Given the description of an element on the screen output the (x, y) to click on. 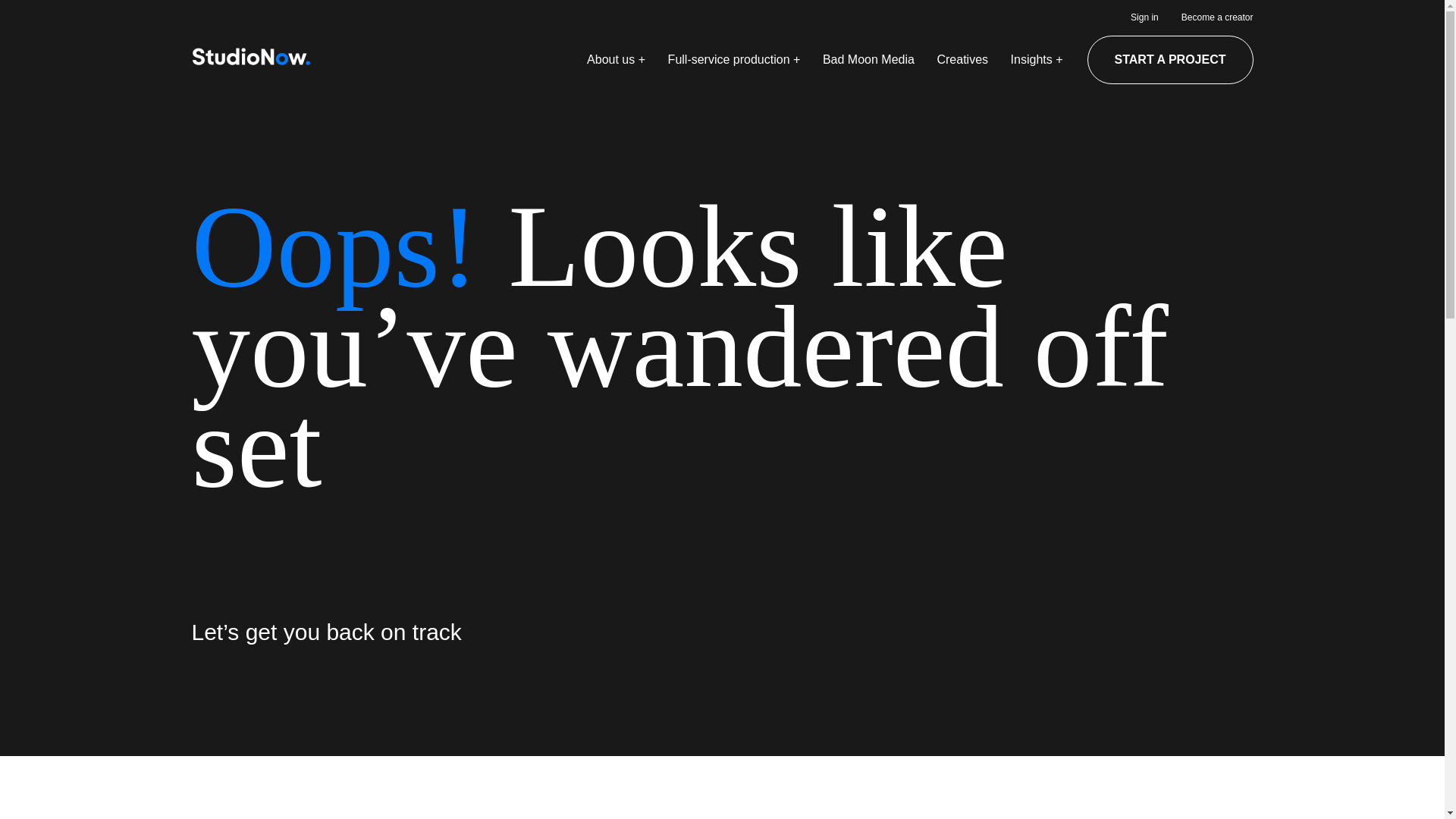
Creatives (962, 60)
Sign in (1144, 17)
Bad Moon Media (868, 60)
Become a creator (1216, 17)
